Given the description of an element on the screen output the (x, y) to click on. 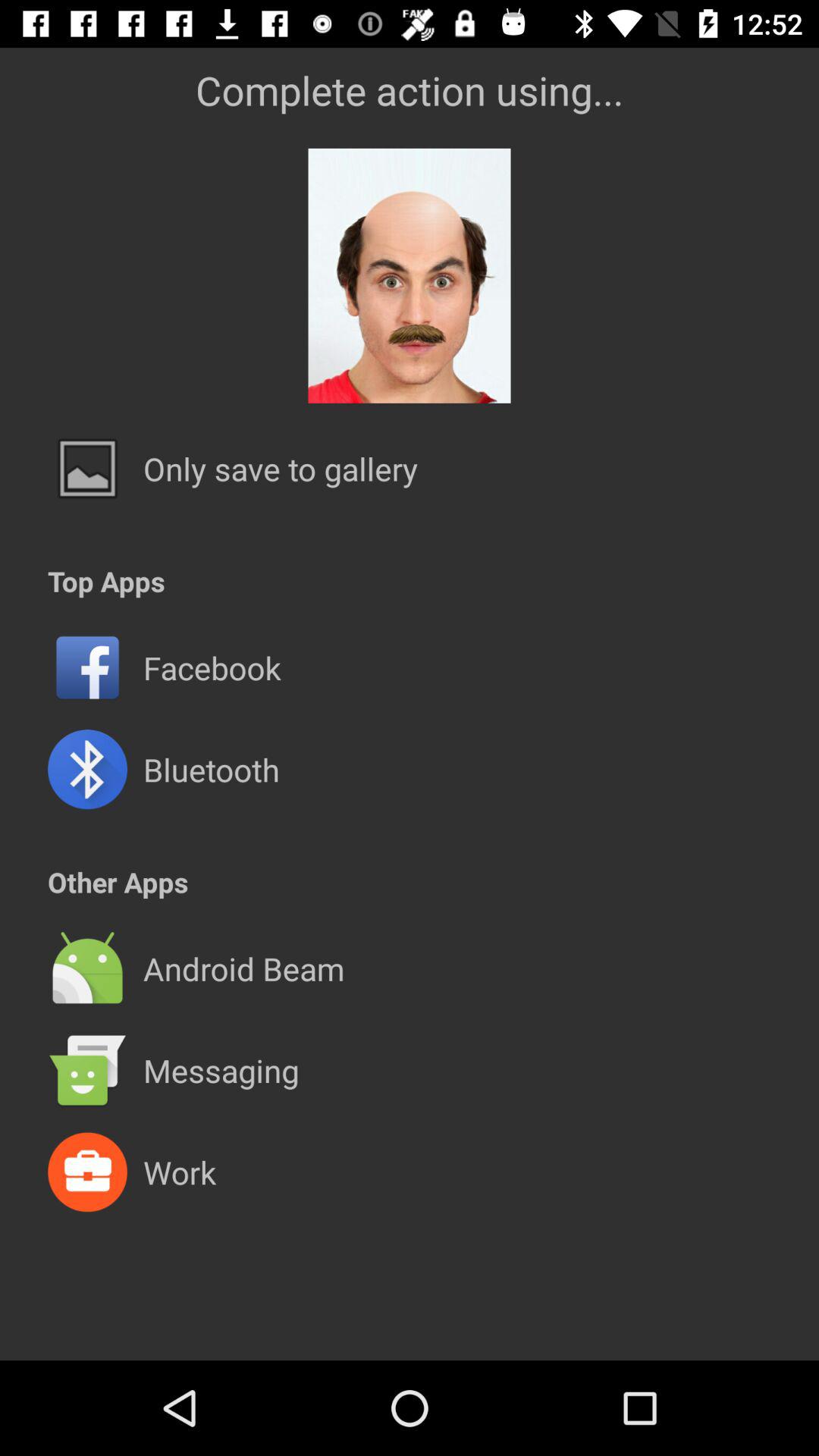
jump until facebook item (211, 667)
